Given the description of an element on the screen output the (x, y) to click on. 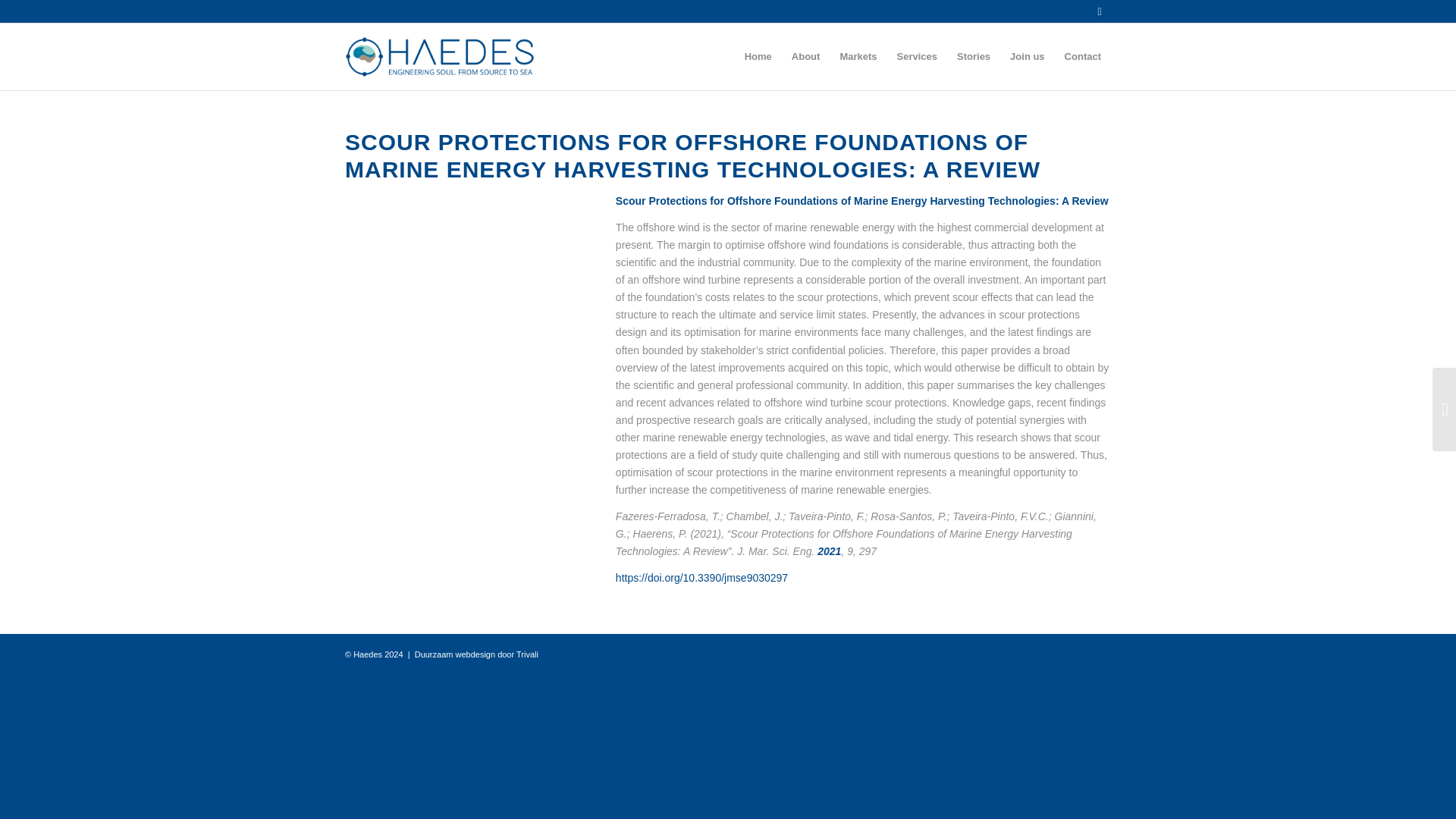
LinkedIn (1098, 11)
Duurzaam webdesign door Trivali (476, 654)
Services (916, 56)
